Given the description of an element on the screen output the (x, y) to click on. 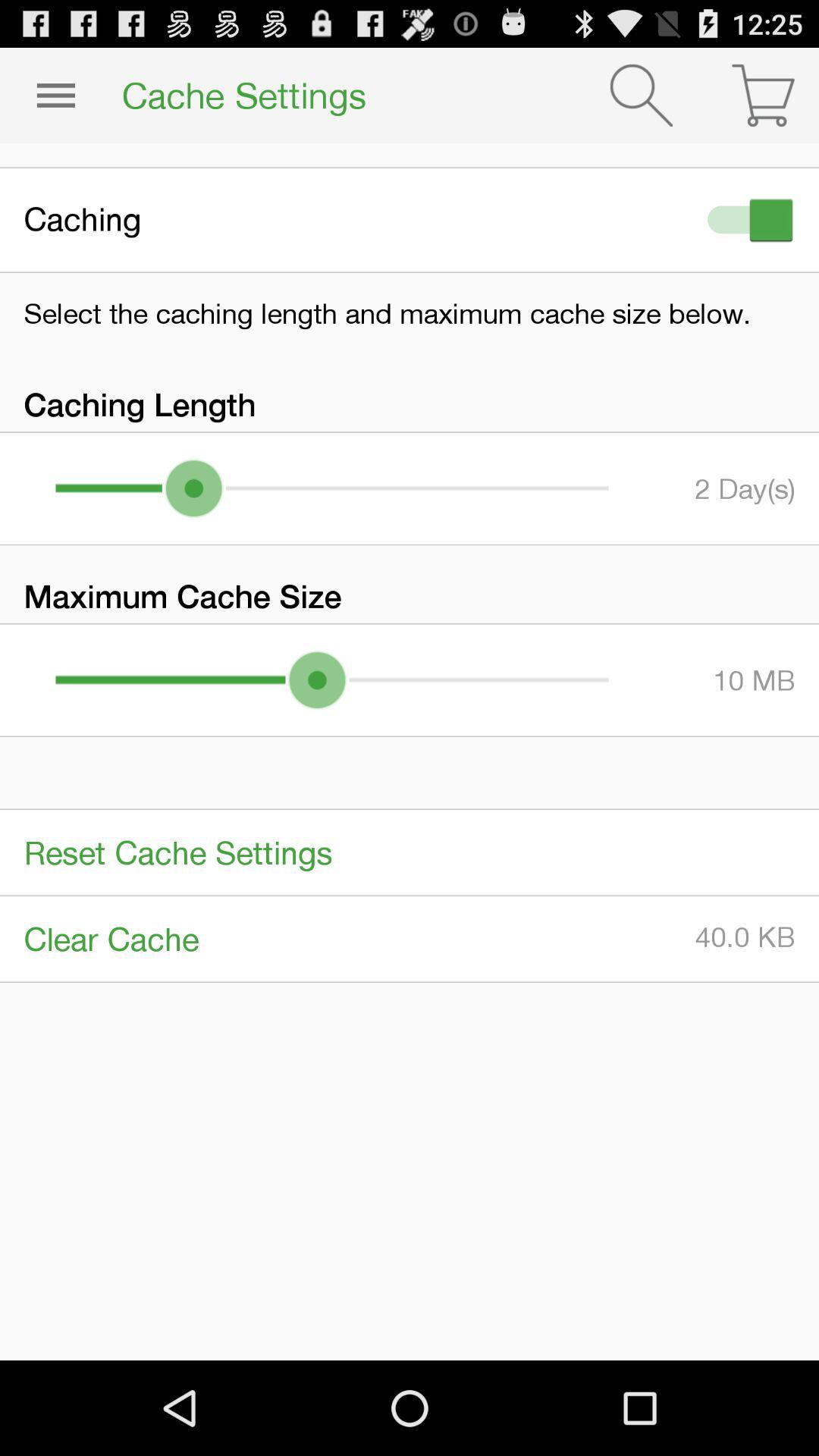
press item to the right of the cache settings item (641, 95)
